Given the description of an element on the screen output the (x, y) to click on. 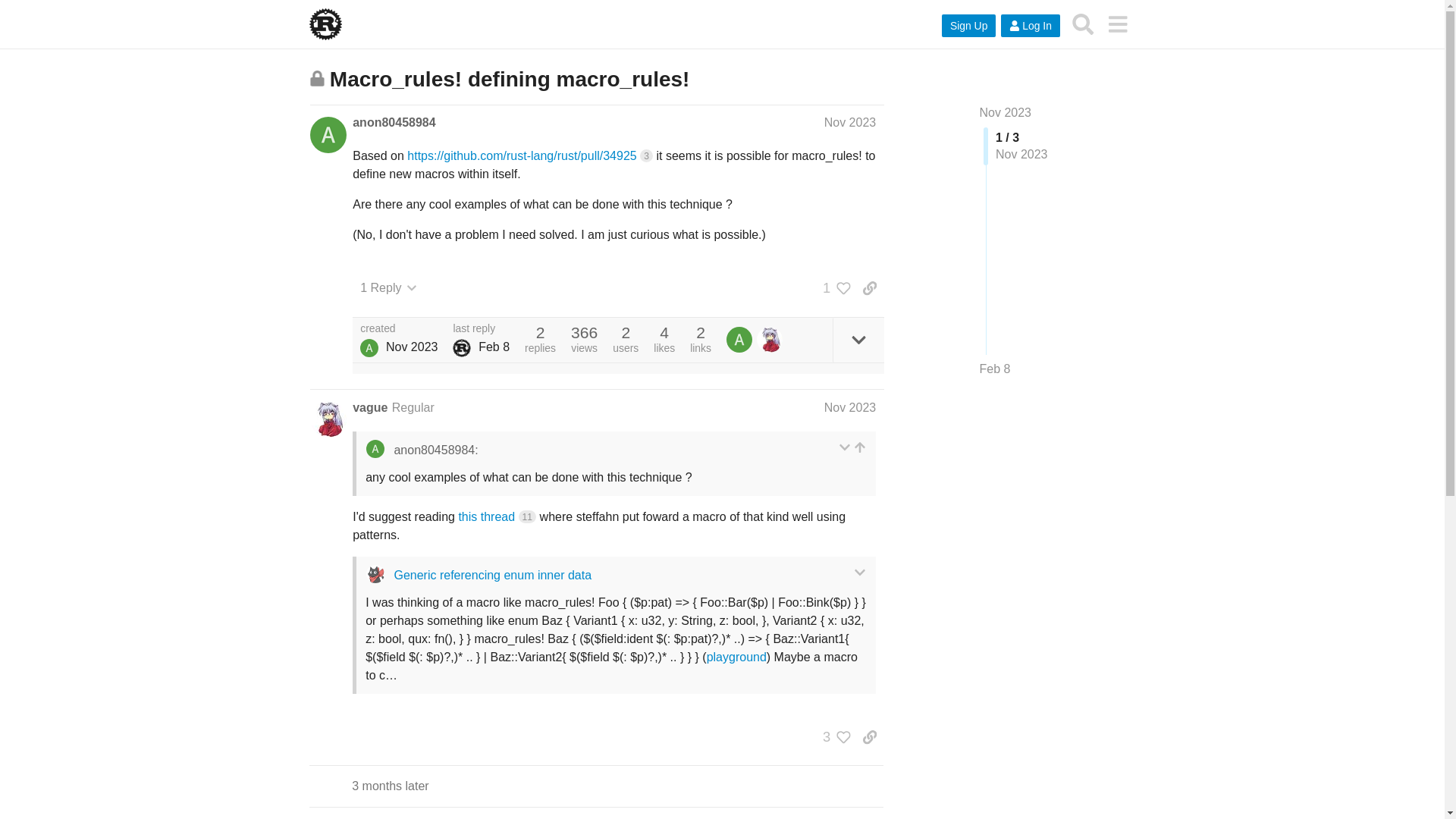
copy a link to this post to clipboard (869, 288)
Feb 8, 2024 3:22 pm (494, 346)
3 clicks (646, 155)
Log In (1030, 25)
Jump to the first post (1005, 112)
system (461, 348)
vague (369, 407)
Nov 2023 (1005, 112)
anon80458984 (368, 348)
Jump to the last post (994, 368)
expand topic details (857, 339)
menu (1117, 23)
last reply (480, 328)
1 person liked this post (832, 288)
1 (832, 288)
